Given the description of an element on the screen output the (x, y) to click on. 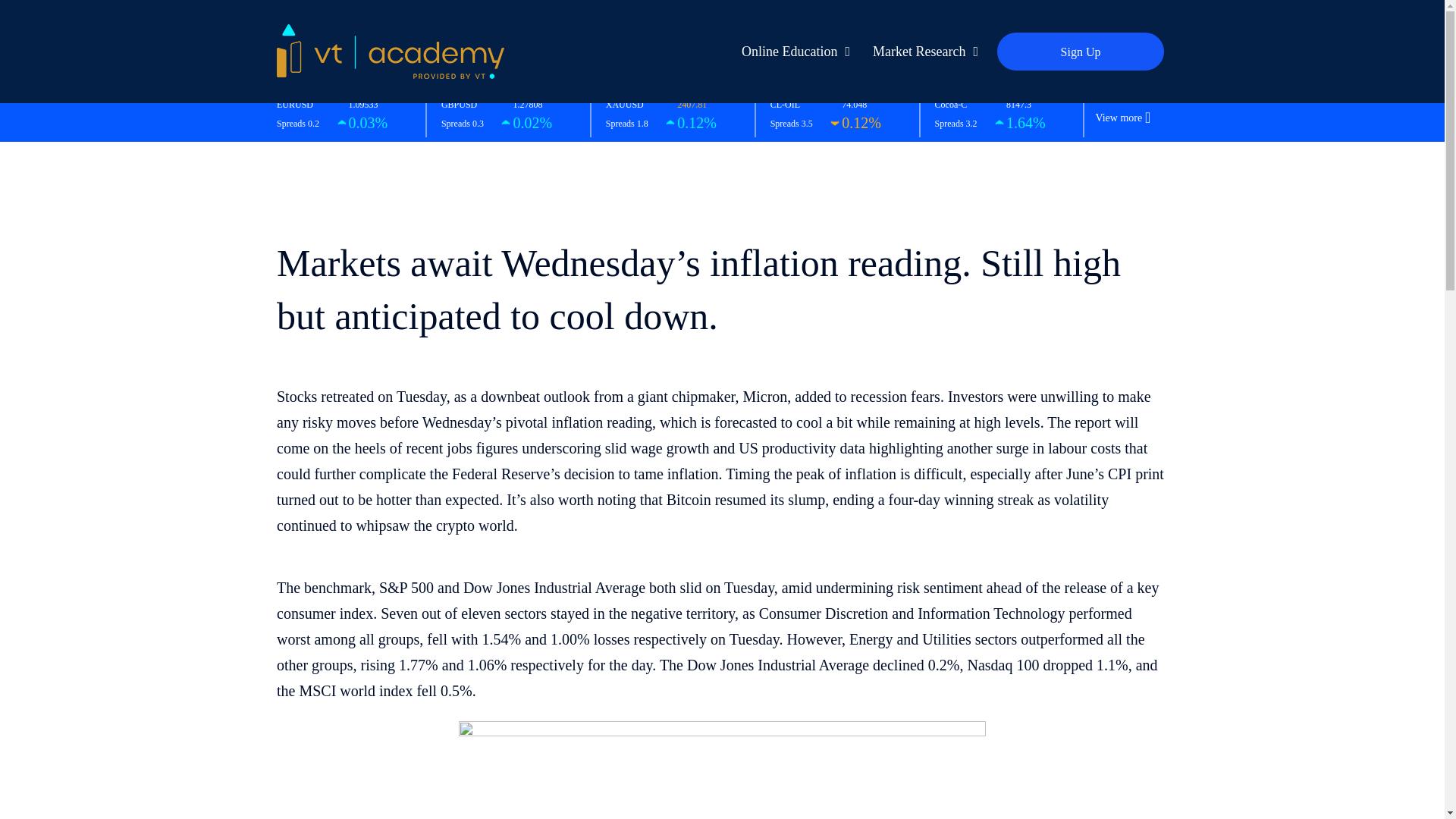
Market Research (921, 51)
Online Education (791, 51)
View more (1117, 117)
Sign Up (1080, 51)
VT Academy (389, 49)
